Given the description of an element on the screen output the (x, y) to click on. 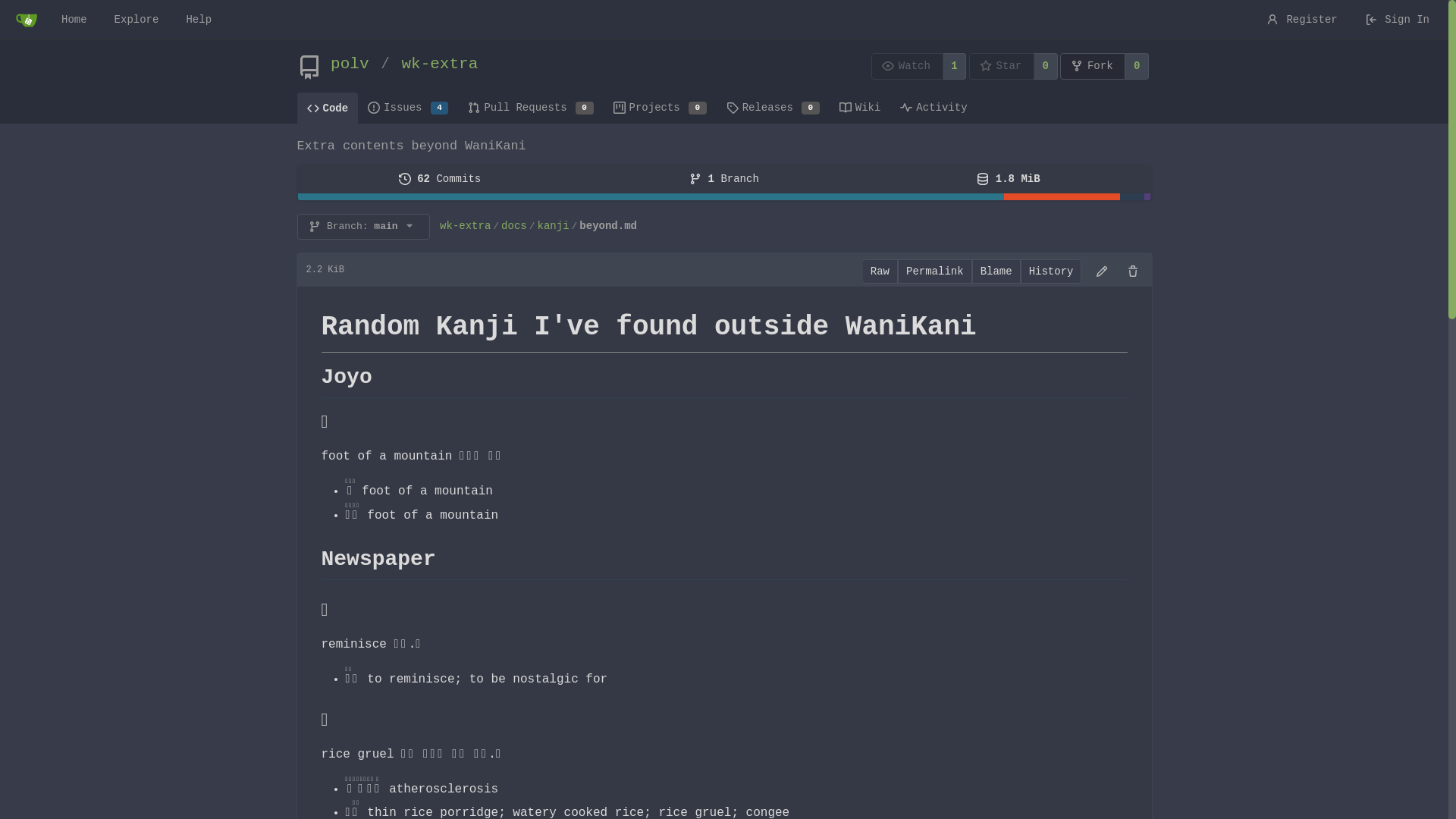
polv Element type: text (349, 63)
Home Element type: text (74, 19)
Star Element type: text (1001, 66)
0 Element type: text (1045, 66)
Permalink Element type: text (934, 271)
Pull Requests
0 Element type: text (530, 106)
Activity Element type: text (933, 106)
docs Element type: text (514, 225)
wk-extra Element type: text (439, 63)
Releases
0 Element type: text (772, 106)
Wiki Element type: text (860, 106)
Fork Element type: text (1092, 66)
Raw Element type: text (879, 271)
Explore Element type: text (136, 19)
kanji Element type: text (553, 225)
        Element type: text (723, 196)
Sign In Element type: text (1397, 19)
Blame Element type: text (996, 271)
0 Element type: text (1136, 66)
Code Element type: text (327, 108)
History Element type: text (1051, 271)
Watch Element type: text (907, 66)
wk-extra Element type: text (464, 225)
Help Element type: text (198, 19)
Projects
0 Element type: text (659, 106)
1 Element type: text (954, 66)
62 Commits Element type: text (439, 178)
Register Element type: text (1301, 19)
Issues
4 Element type: text (407, 106)
1 Branch Element type: text (724, 178)
